Given the description of an element on the screen output the (x, y) to click on. 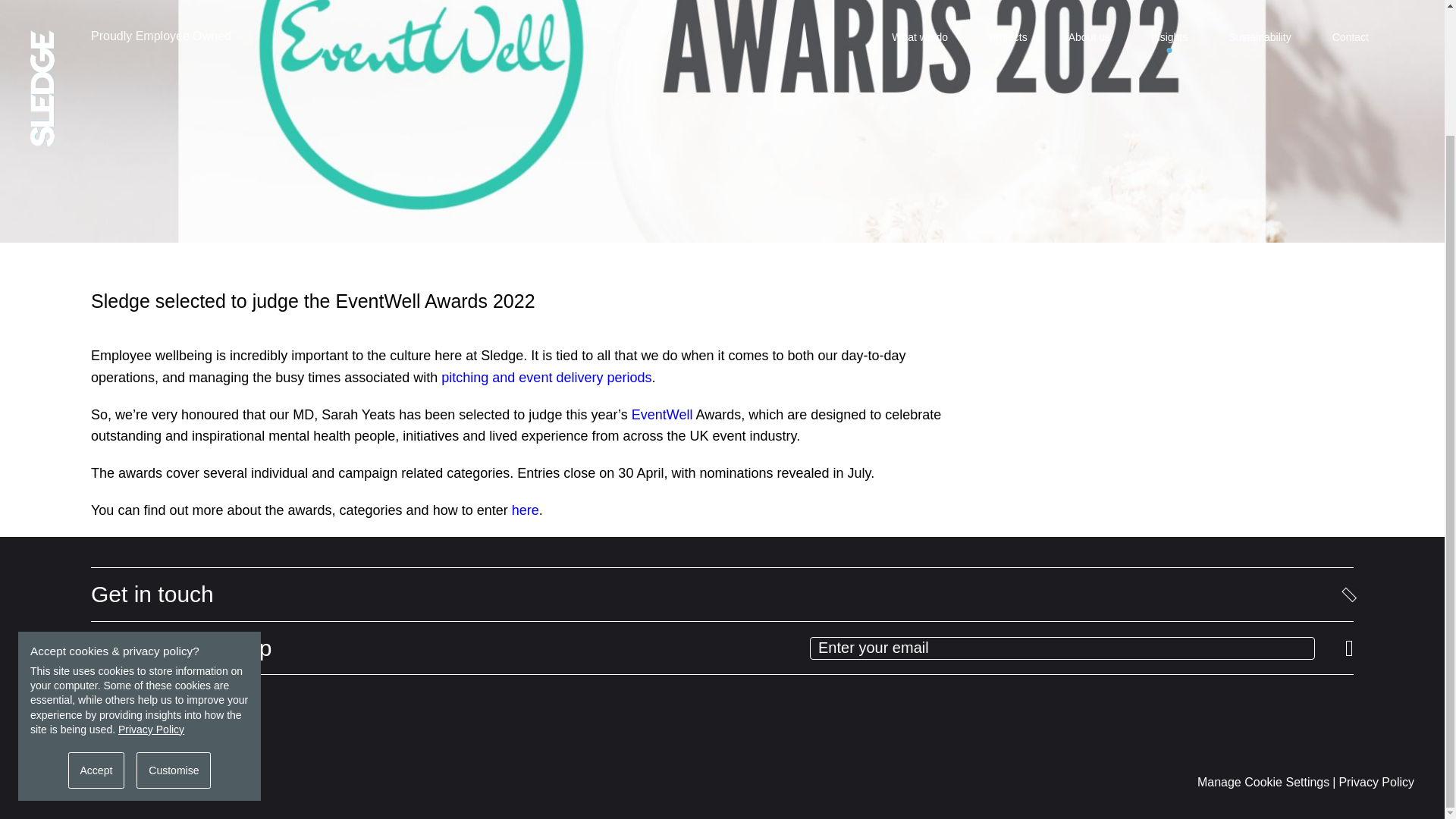
EventWell (662, 414)
Privacy Policy (1375, 781)
here (525, 509)
Customise (173, 618)
Get in touch (722, 594)
Manage Cookie Settings (1262, 781)
pitching and event delivery periods (545, 377)
Accept (96, 618)
Privacy Policy (150, 577)
